Given the description of an element on the screen output the (x, y) to click on. 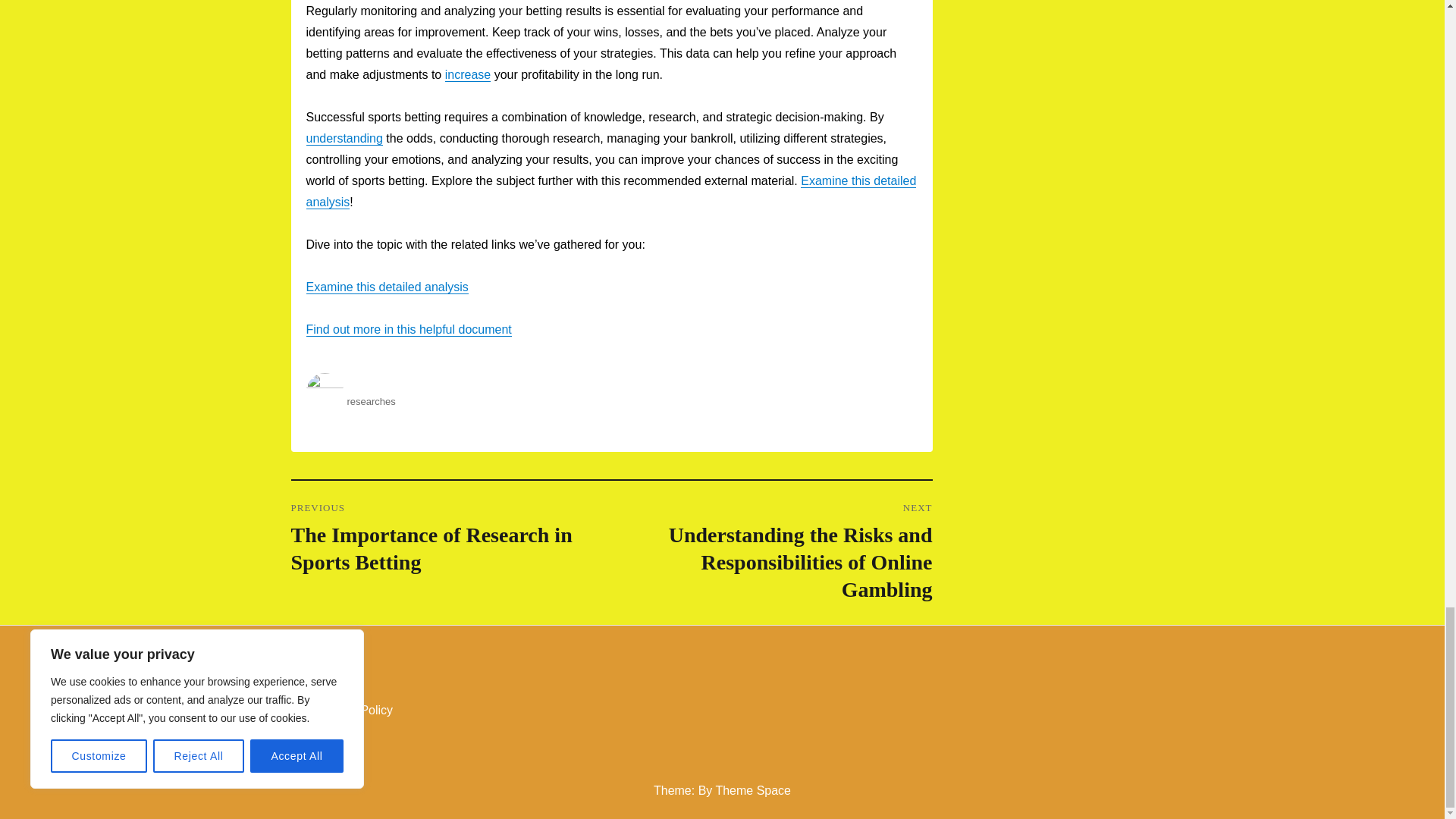
researches (371, 401)
understanding (343, 137)
increase (467, 74)
Examine this detailed analysis (386, 286)
Examine this detailed analysis (611, 191)
Find out more in this helpful document (408, 328)
